Given the description of an element on the screen output the (x, y) to click on. 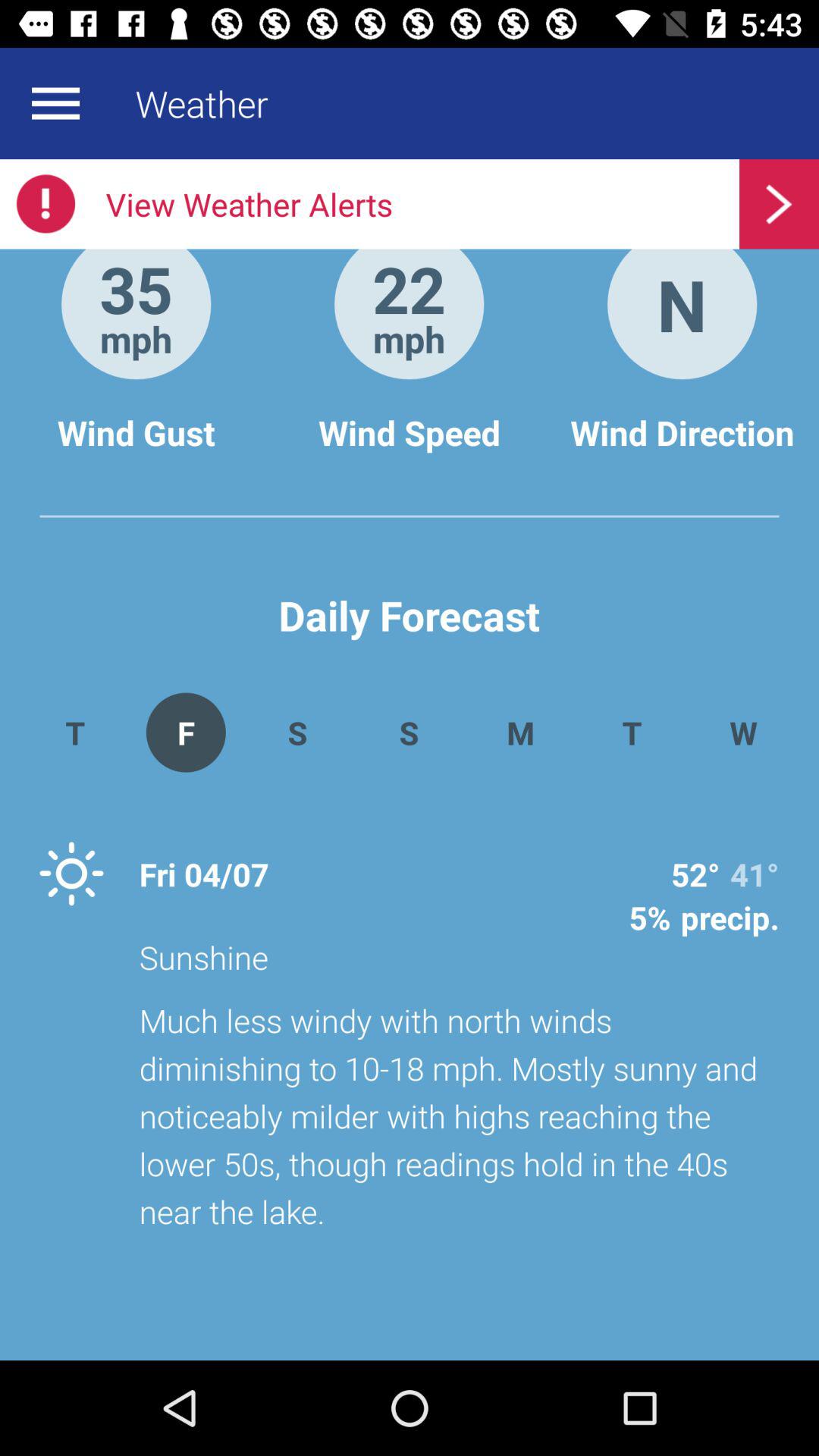
choose the m (520, 732)
